Given the description of an element on the screen output the (x, y) to click on. 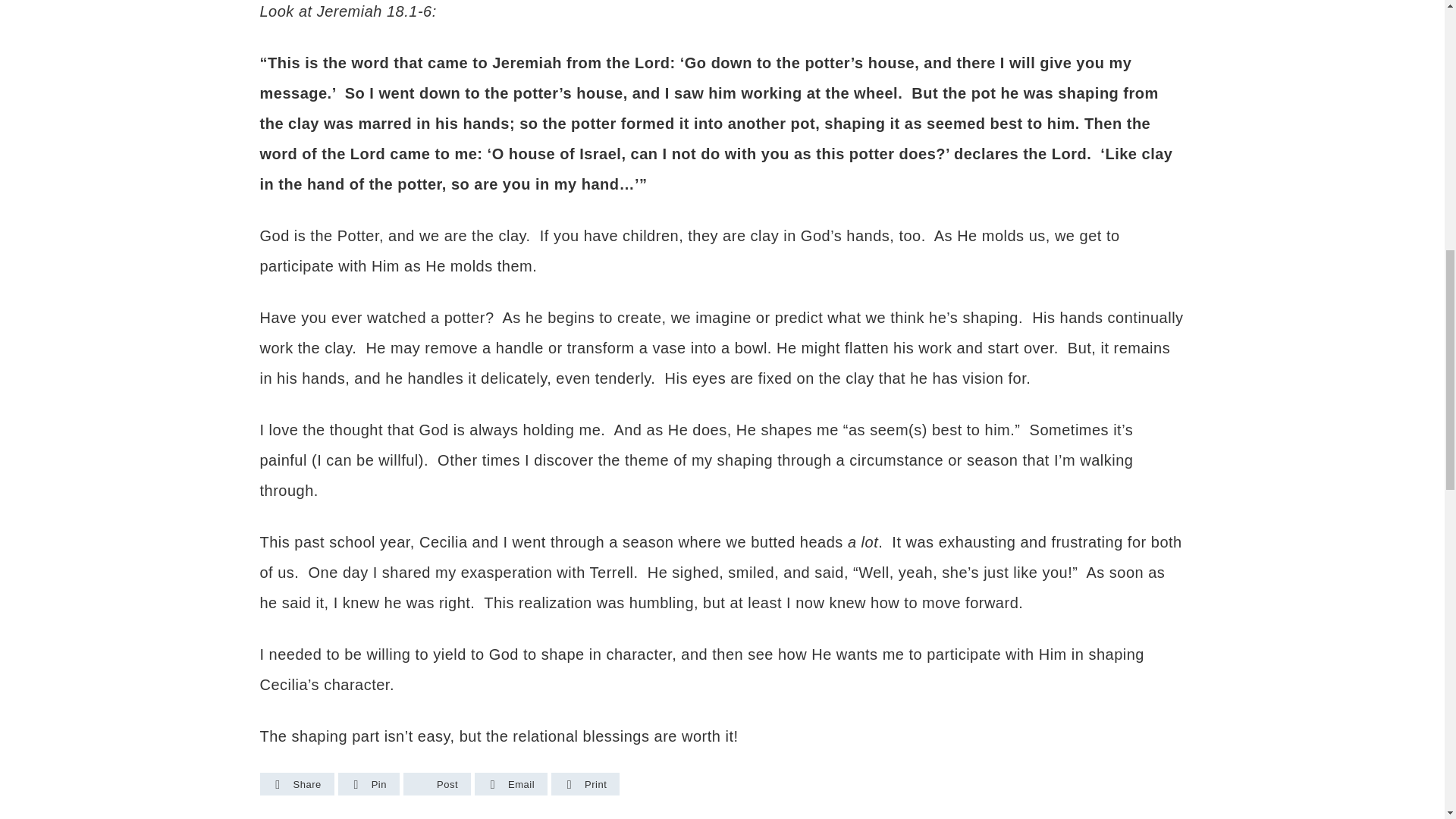
Post (437, 784)
Pin (368, 784)
Email (511, 784)
Print (584, 784)
Share (296, 784)
